Given the description of an element on the screen output the (x, y) to click on. 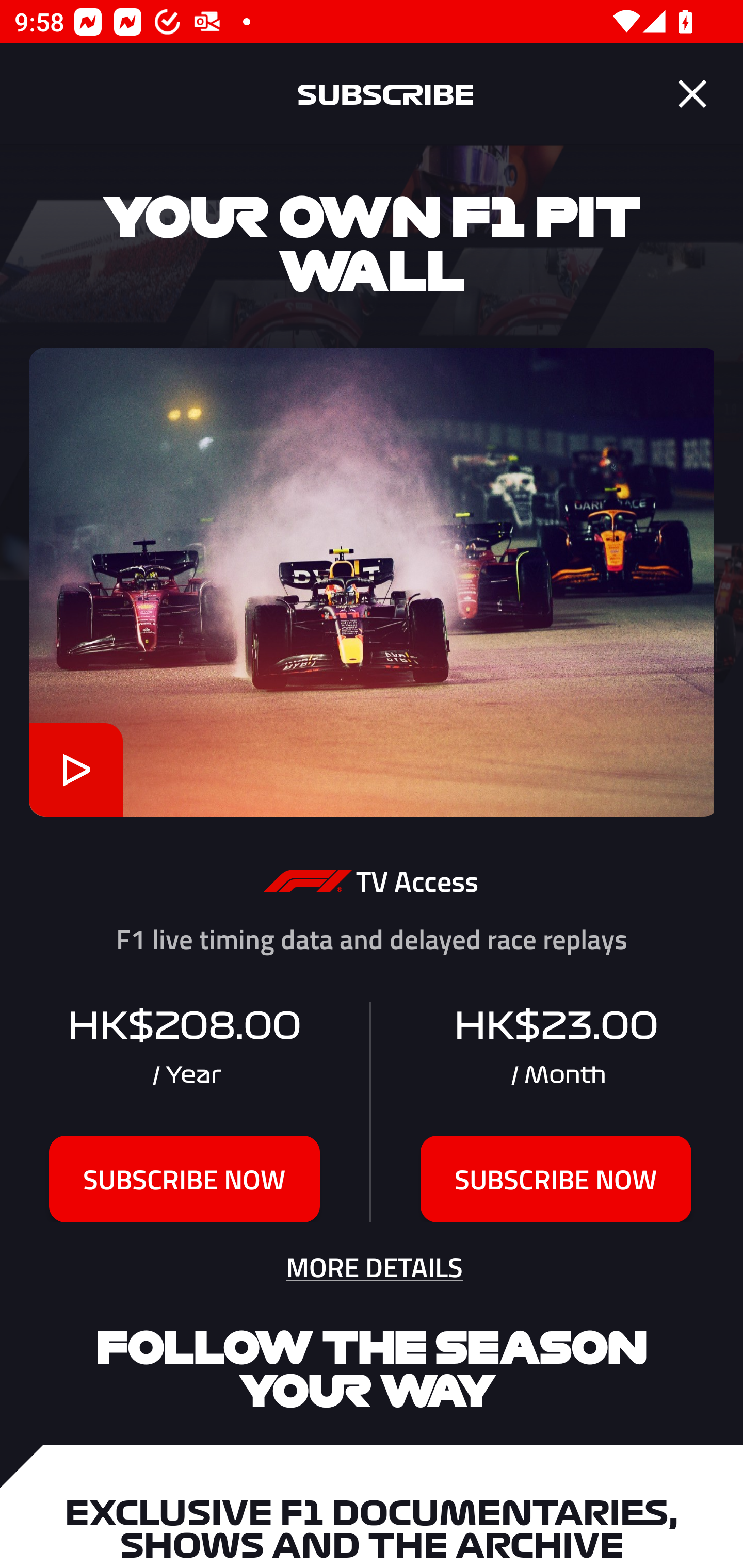
Close (692, 93)
Video Component, tap to play Video (75, 769)
SUBSCRIBE NOW (184, 1179)
SUBSCRIBE NOW (555, 1179)
